Given the description of an element on the screen output the (x, y) to click on. 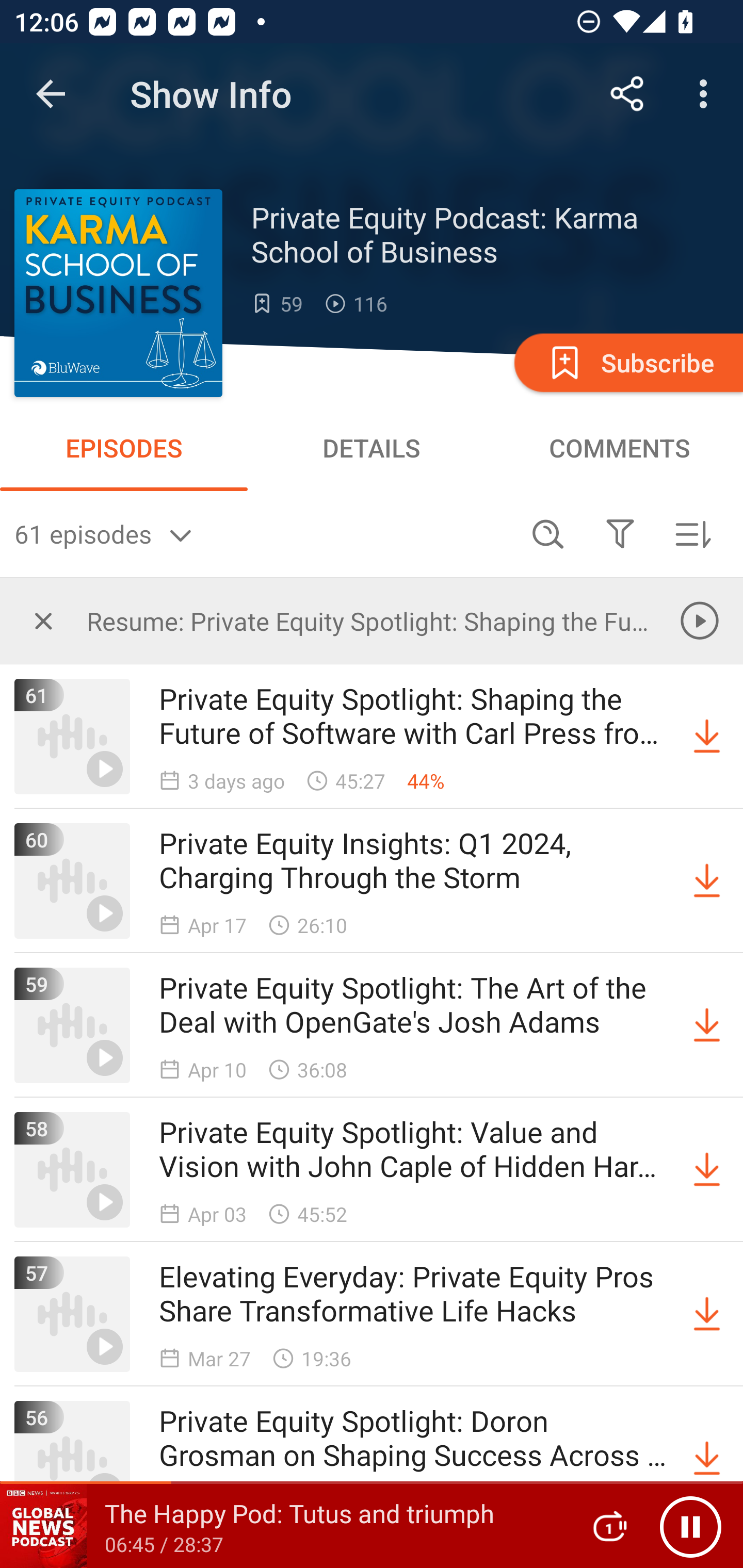
Navigate up (50, 93)
Share (626, 93)
More options (706, 93)
Subscribe (627, 361)
EPISODES (123, 447)
DETAILS (371, 447)
COMMENTS (619, 447)
61 episodes  (262, 533)
 Search (547, 533)
 (619, 533)
 Sorted by newest first (692, 533)
 (43, 620)
Download (706, 736)
Download (706, 881)
Download (706, 1025)
Download (706, 1169)
Download (706, 1313)
Download (706, 1458)
The Happy Pod: Tutus and triumph 06:45 / 28:37 (283, 1525)
Pause (690, 1526)
